Given the description of an element on the screen output the (x, y) to click on. 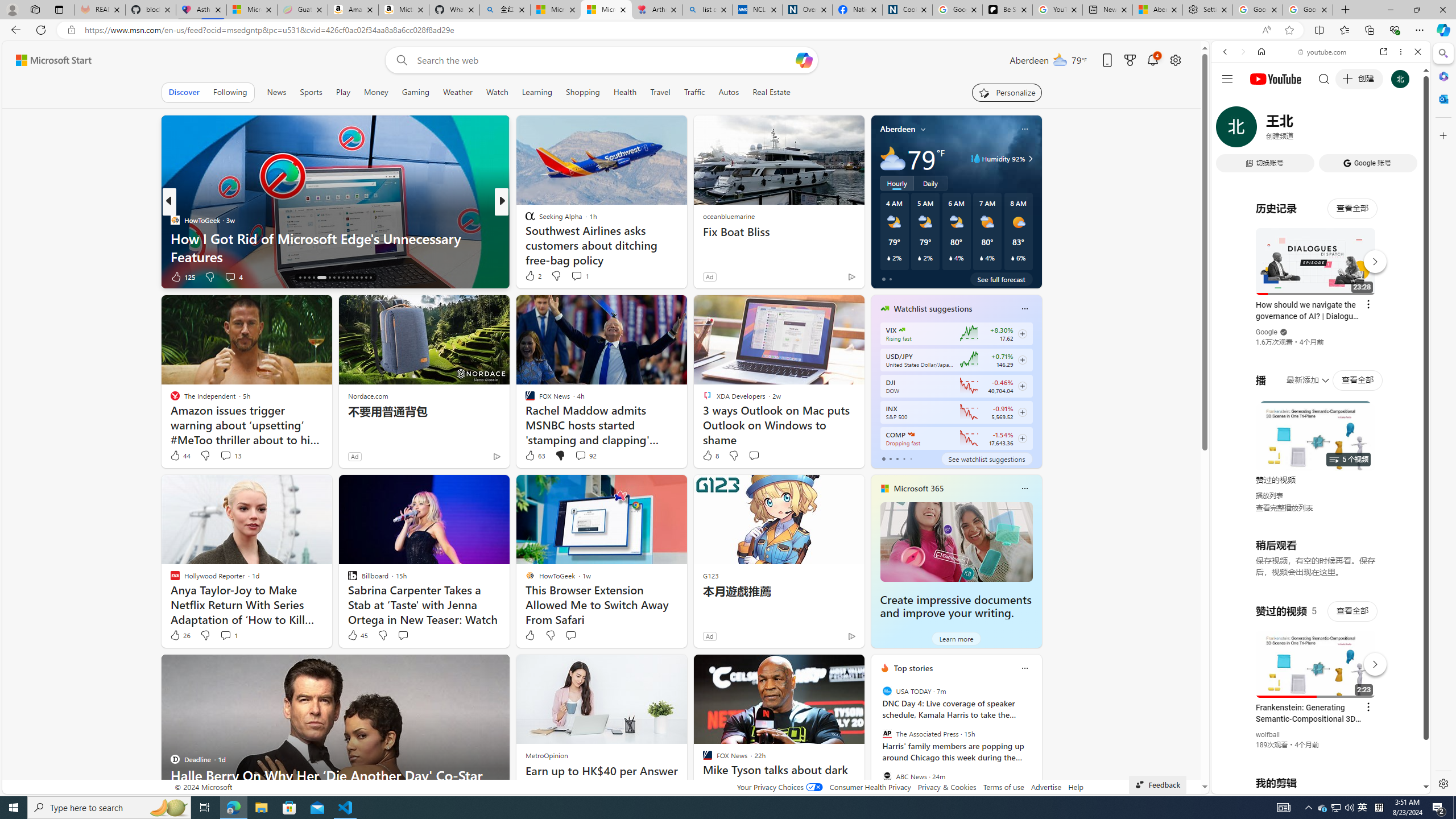
View comments 20 Comment (580, 276)
44 Like (179, 455)
Search videos from youtube.com (1299, 373)
This story is trending (829, 279)
Fix Boat Bliss (778, 232)
AutomationID: tab-17 (304, 277)
